Given the description of an element on the screen output the (x, y) to click on. 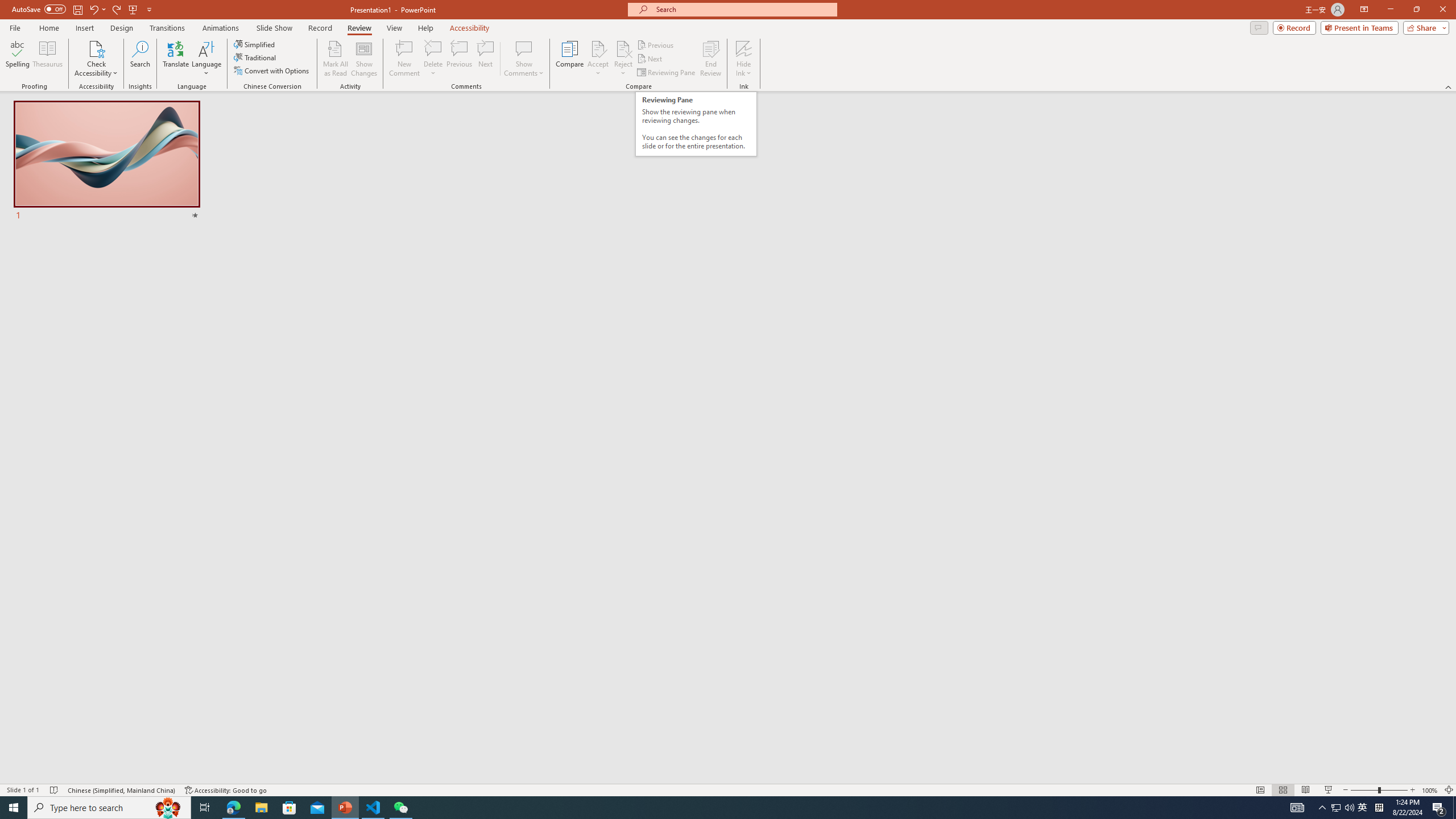
Accept Change (598, 48)
Mark All as Read (335, 58)
Traditional (255, 56)
End Review (710, 58)
